Given the description of an element on the screen output the (x, y) to click on. 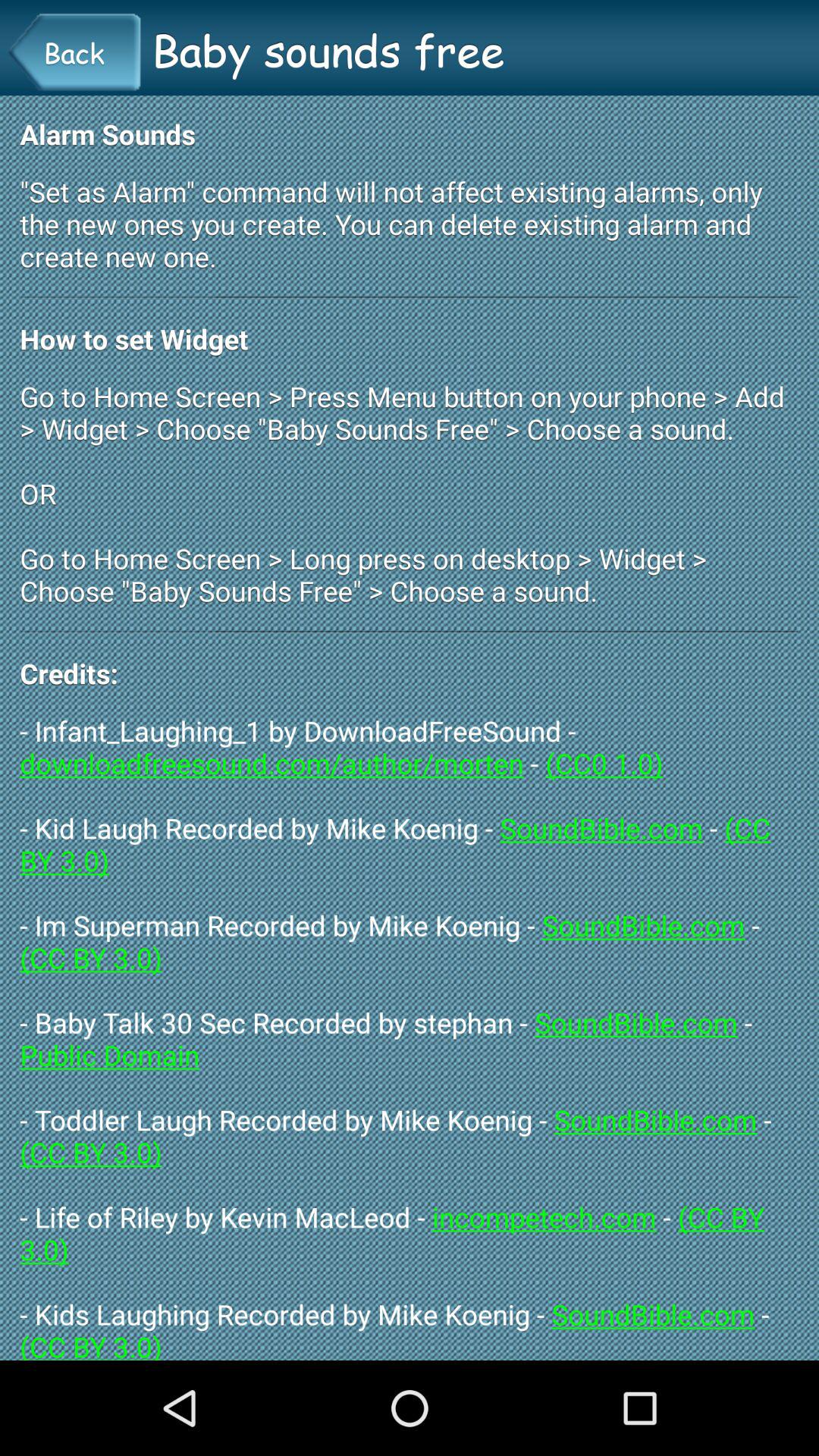
swipe until the infant_laughing_1 by downloadfreesound item (409, 1036)
